Given the description of an element on the screen output the (x, y) to click on. 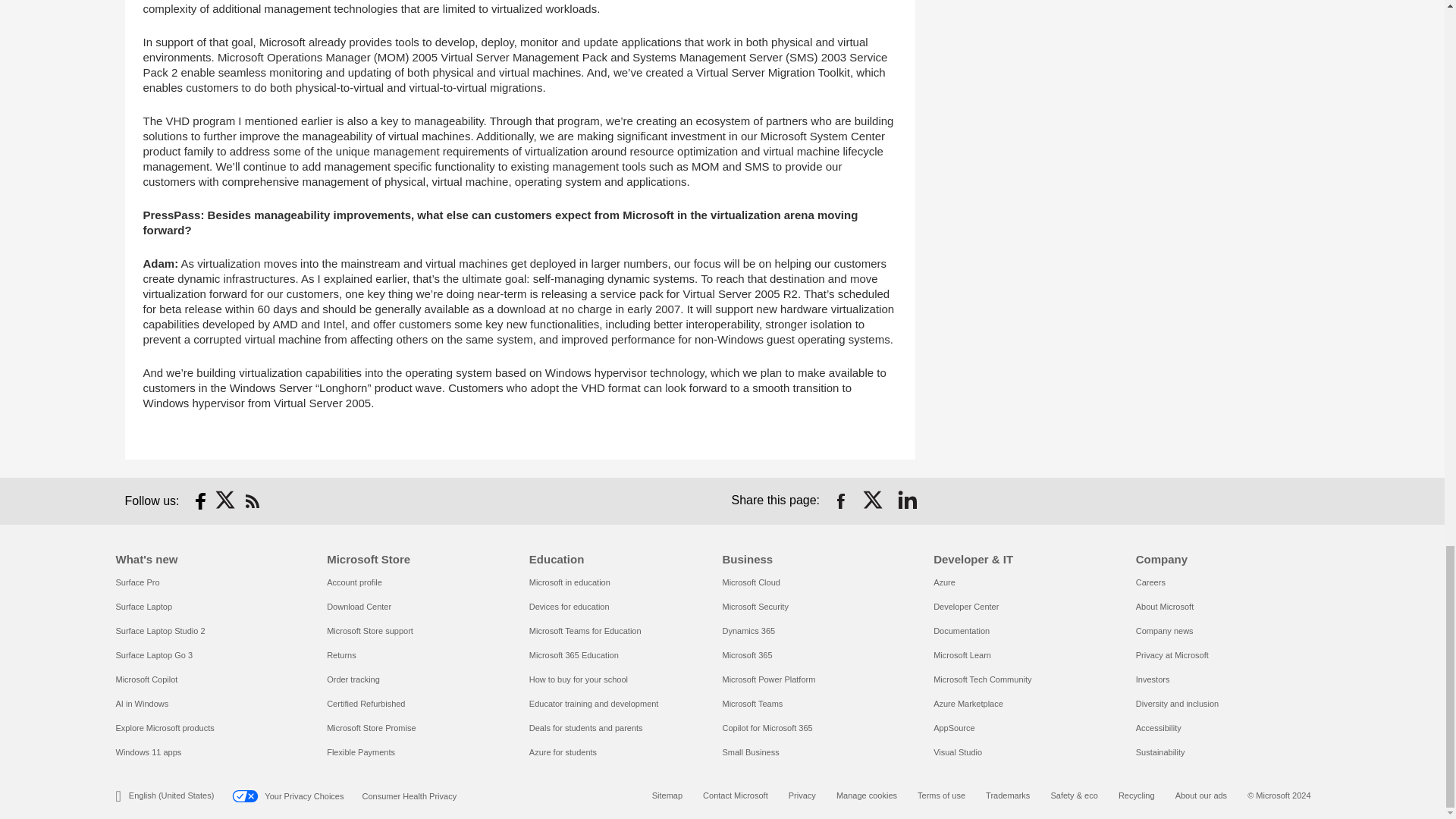
RSS Subscription (252, 500)
Follow on Facebook (200, 500)
Share on Facebook (840, 500)
Share on Twitter (873, 500)
Follow on Twitter (226, 500)
Share on LinkedIn (907, 500)
